Given the description of an element on the screen output the (x, y) to click on. 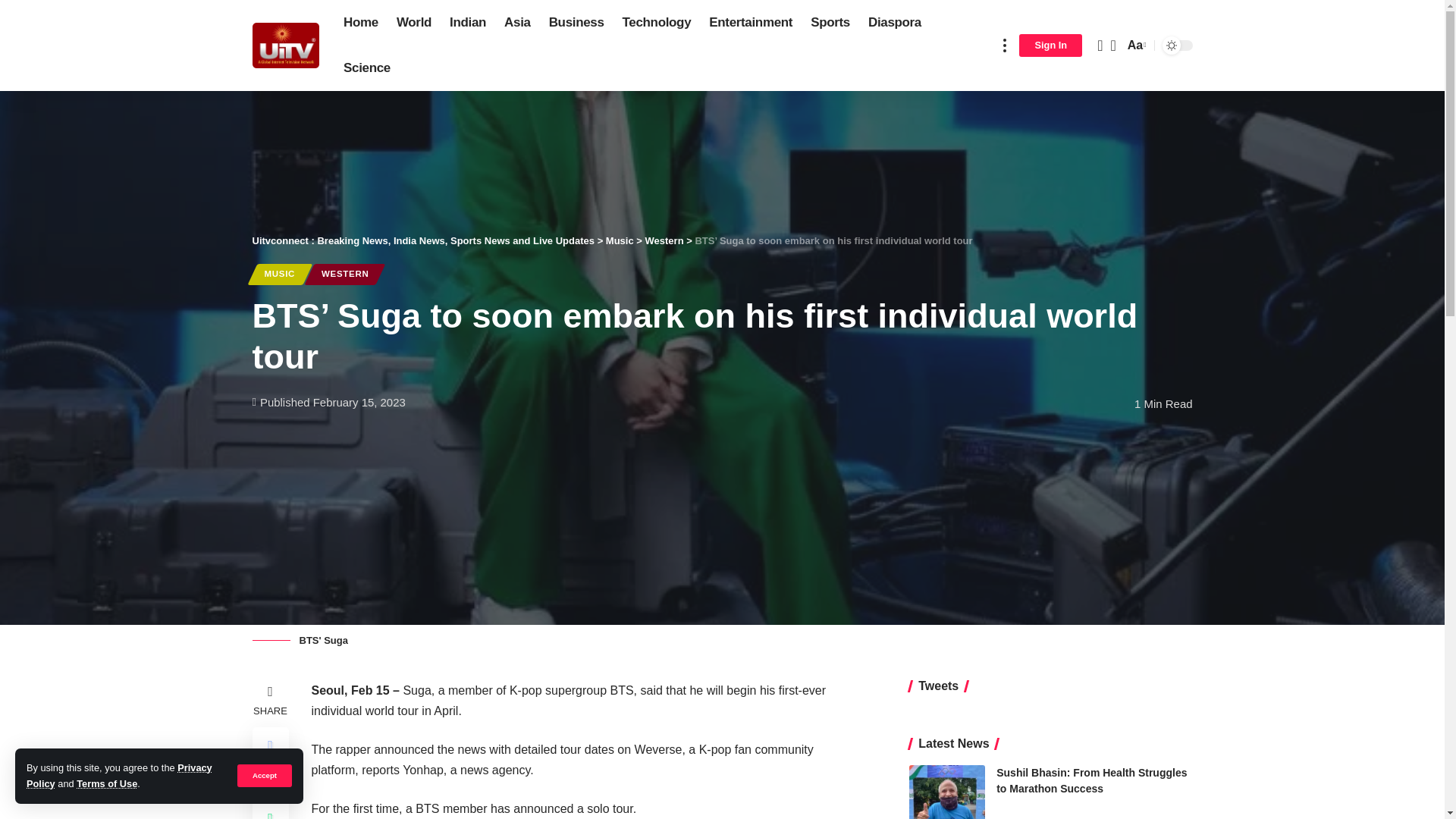
World (414, 22)
Science (366, 67)
Go to the Western Category archives. (664, 240)
Sushil Bhasin: From Health Struggles to Marathon Success (946, 791)
Business (576, 22)
Diaspora (894, 22)
Accept (264, 775)
Indian (468, 22)
Technology (656, 22)
Sports (830, 22)
Terms of Use (106, 783)
Privacy Policy (119, 775)
Home (360, 22)
